Given the description of an element on the screen output the (x, y) to click on. 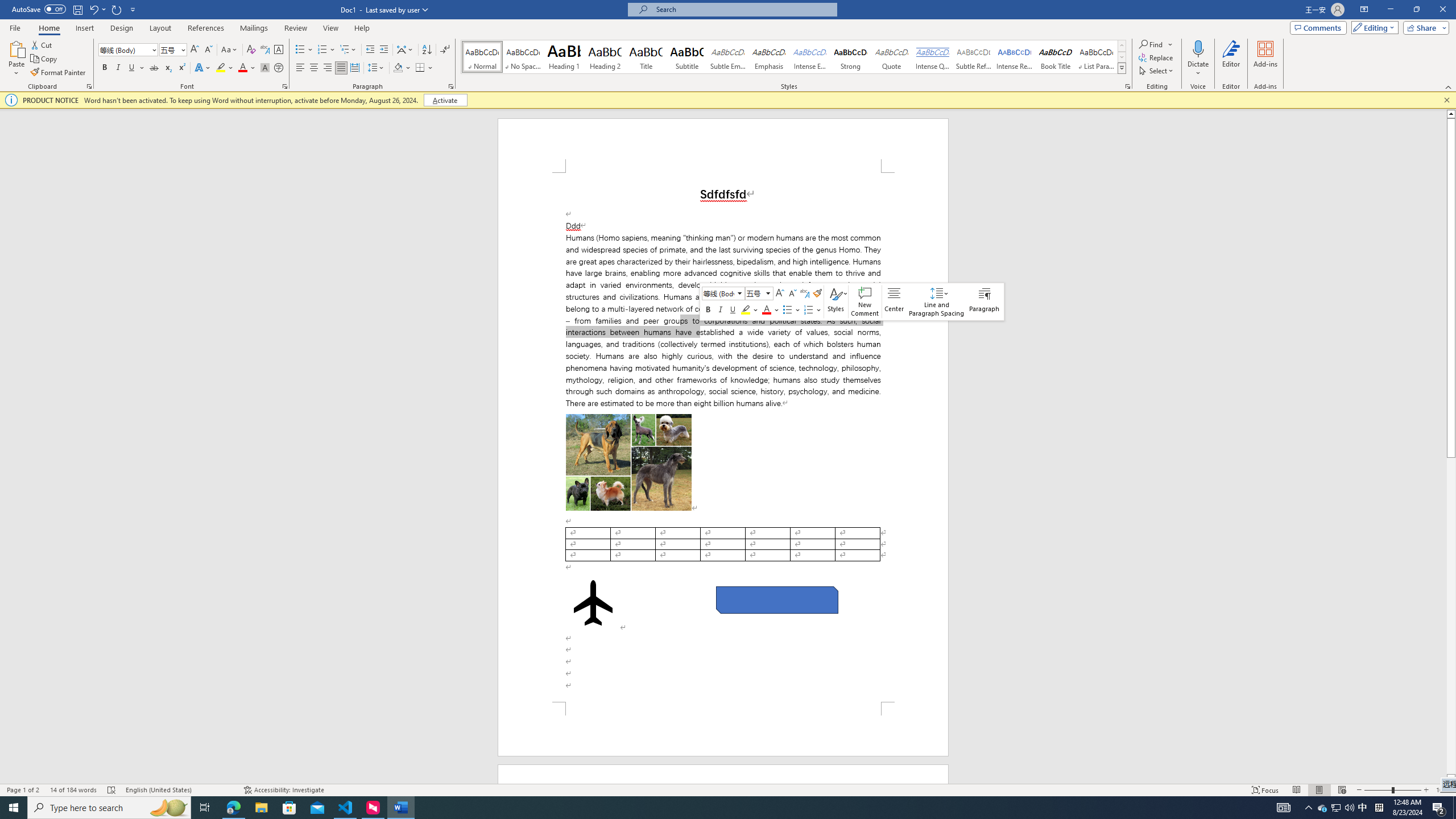
Font Color Red (766, 309)
Page 1 content (723, 436)
Line down (1450, 778)
Activate (445, 100)
Heading 1 (564, 56)
Page down (1450, 615)
